Given the description of an element on the screen output the (x, y) to click on. 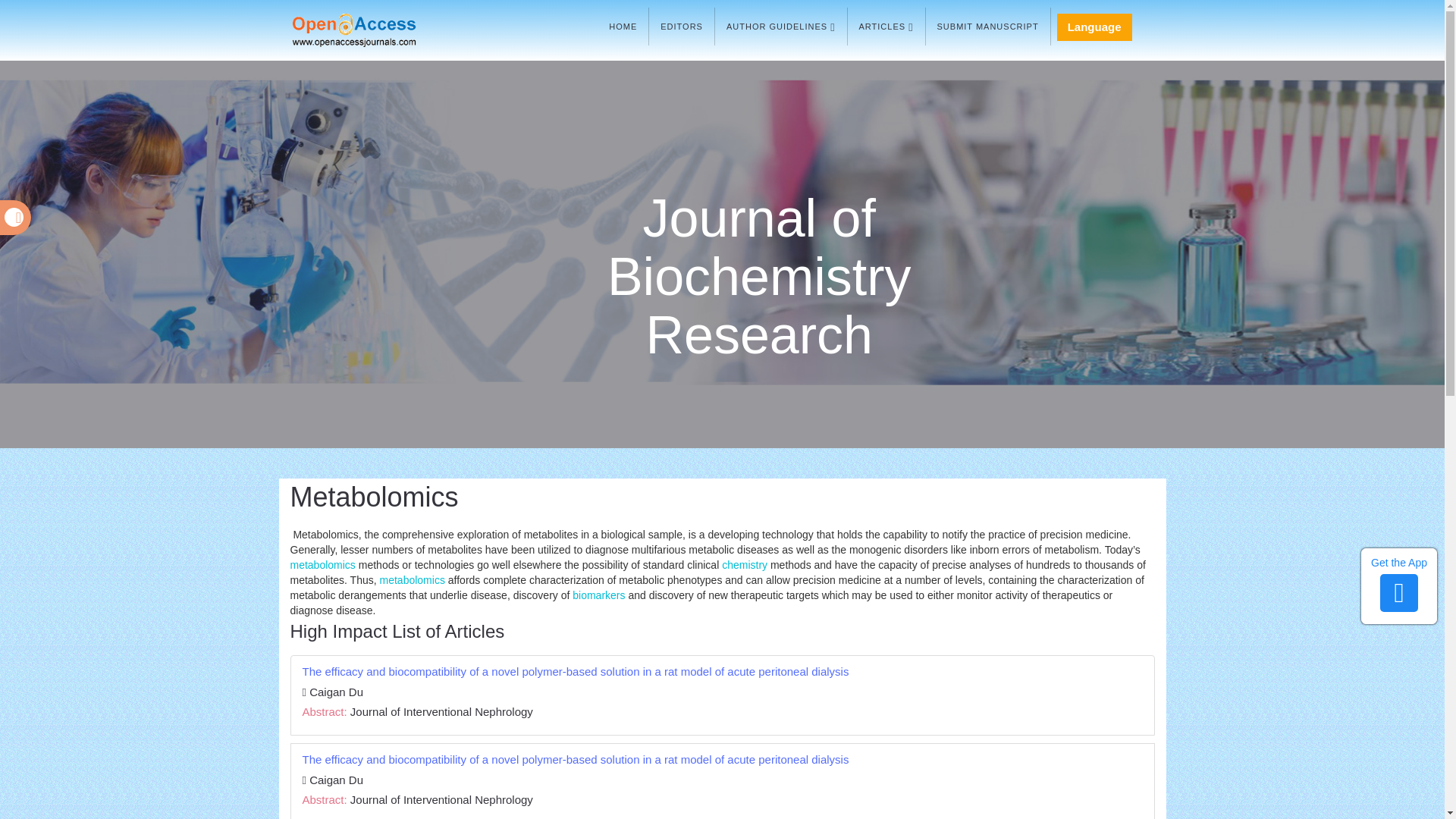
Journals (780, 26)
Language (1094, 26)
Open Access Journals (375, 30)
Journals (885, 26)
Editorial Advisory Board (681, 26)
EDITORS (681, 26)
AUTHOR GUIDELINES (780, 26)
SUBMIT MANUSCRIPT (987, 26)
HOME (621, 26)
metabolomics (322, 564)
ARTICLES (885, 26)
metabolomics (412, 580)
Journal of Interventional Nephrology (441, 711)
